Given the description of an element on the screen output the (x, y) to click on. 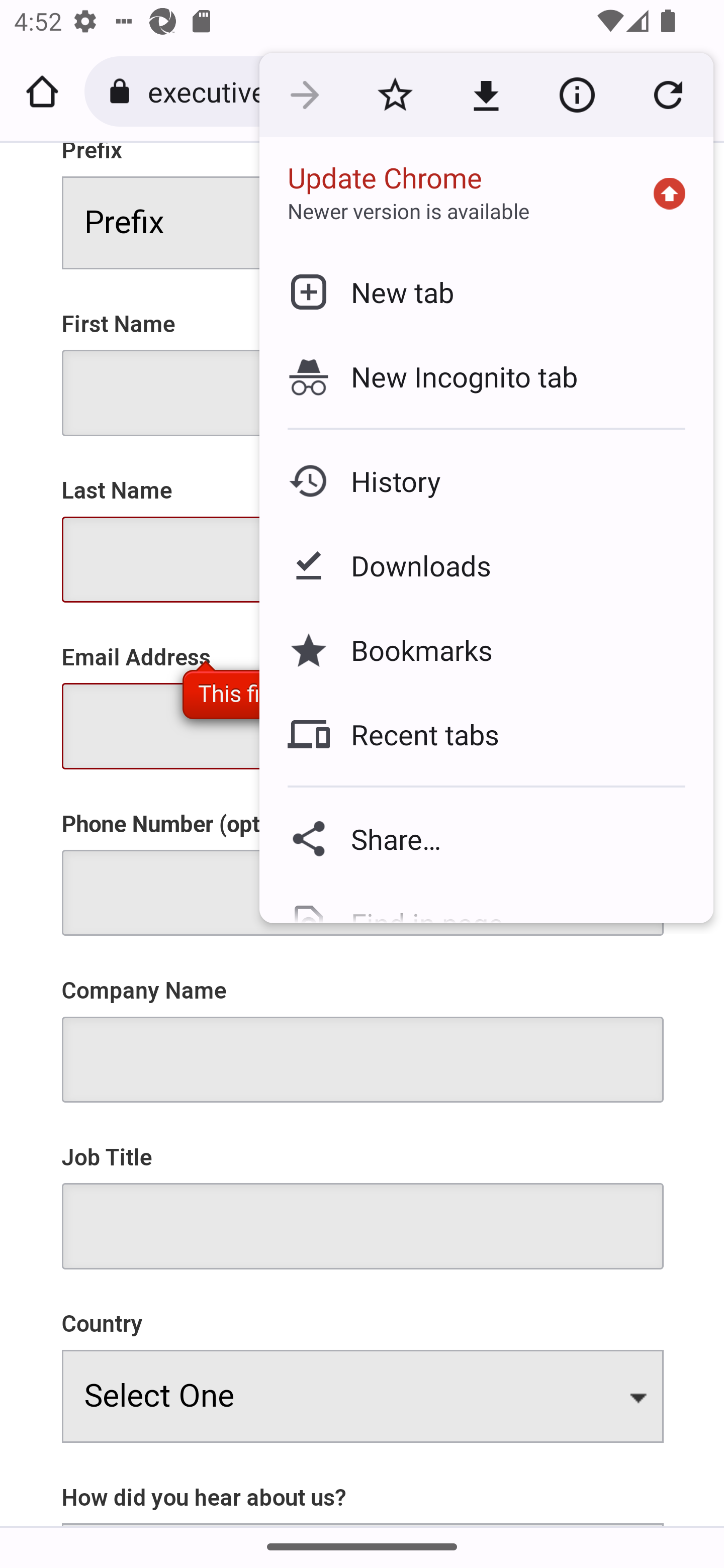
Forward (304, 95)
Bookmark (394, 95)
Download (485, 95)
Page info (576, 95)
Refresh (667, 95)
New tab (486, 291)
New Incognito tab (486, 375)
History (486, 481)
Downloads (486, 565)
Bookmarks (486, 649)
Recent tabs (486, 733)
Share… (486, 838)
